Given the description of an element on the screen output the (x, y) to click on. 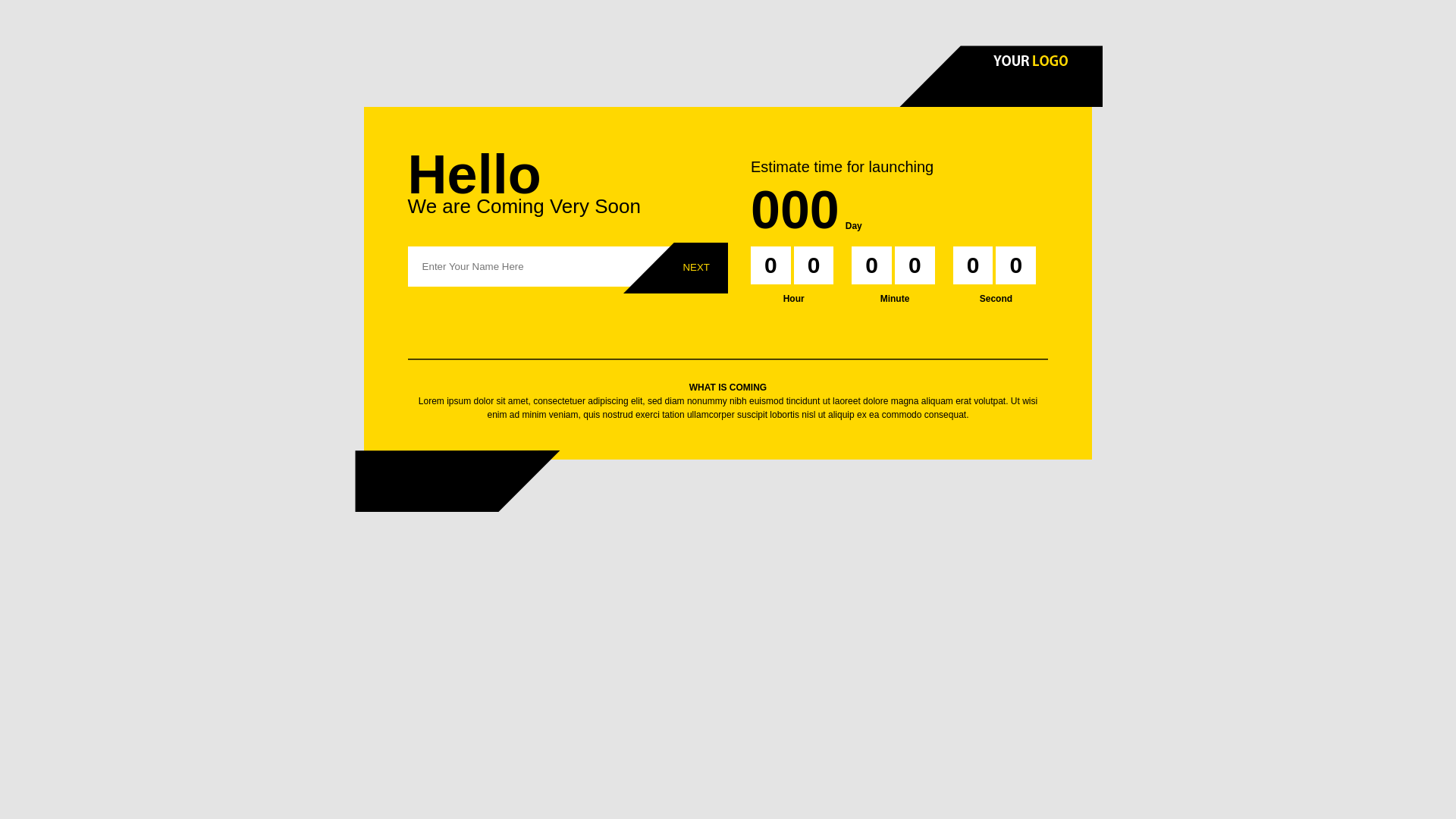
Next Element type: text (696, 267)
